Given the description of an element on the screen output the (x, y) to click on. 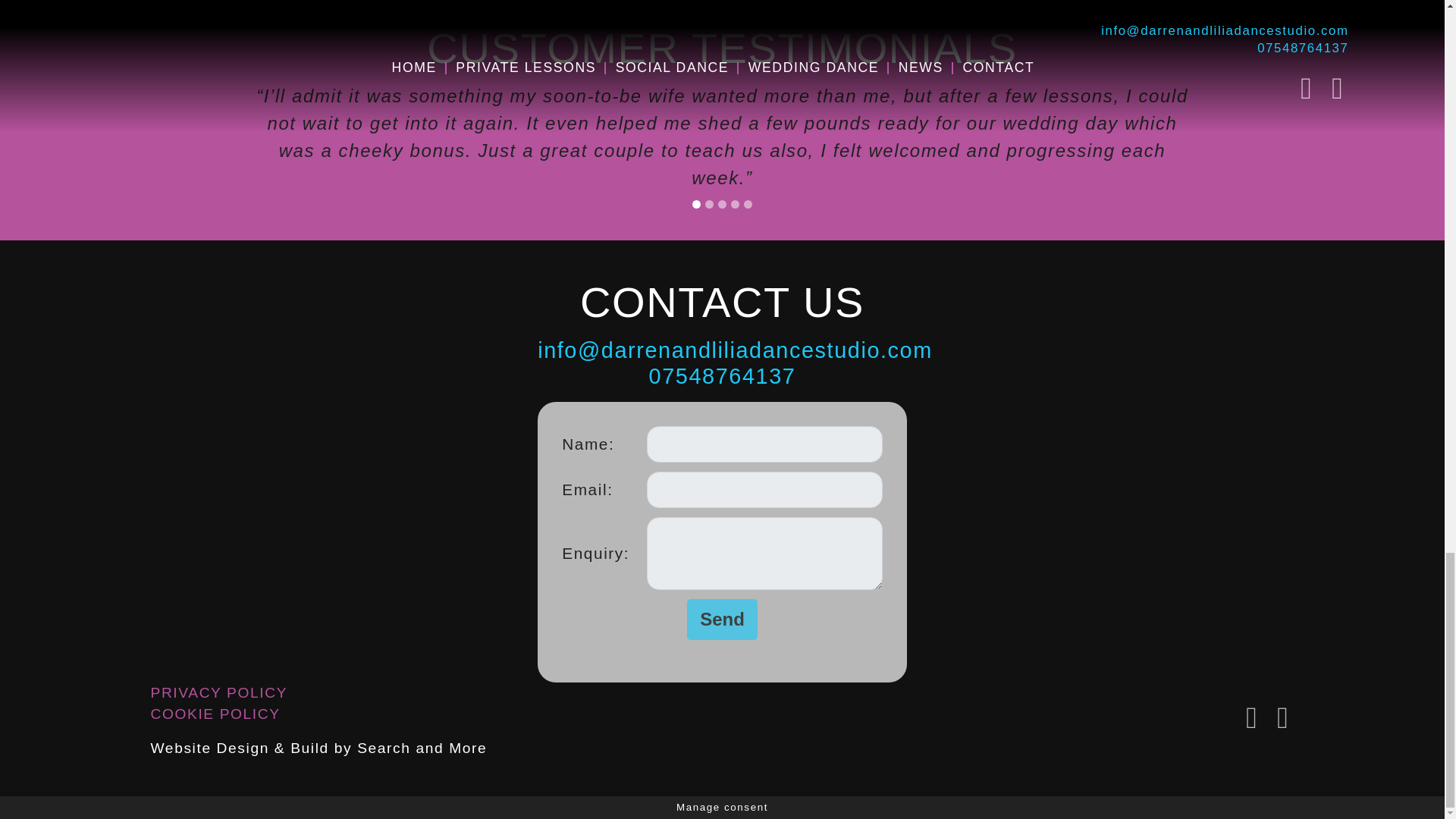
07548764137 (722, 375)
PRIVACY POLICY (217, 692)
Send (722, 618)
COOKIE POLICY (214, 713)
Send (722, 618)
